Given the description of an element on the screen output the (x, y) to click on. 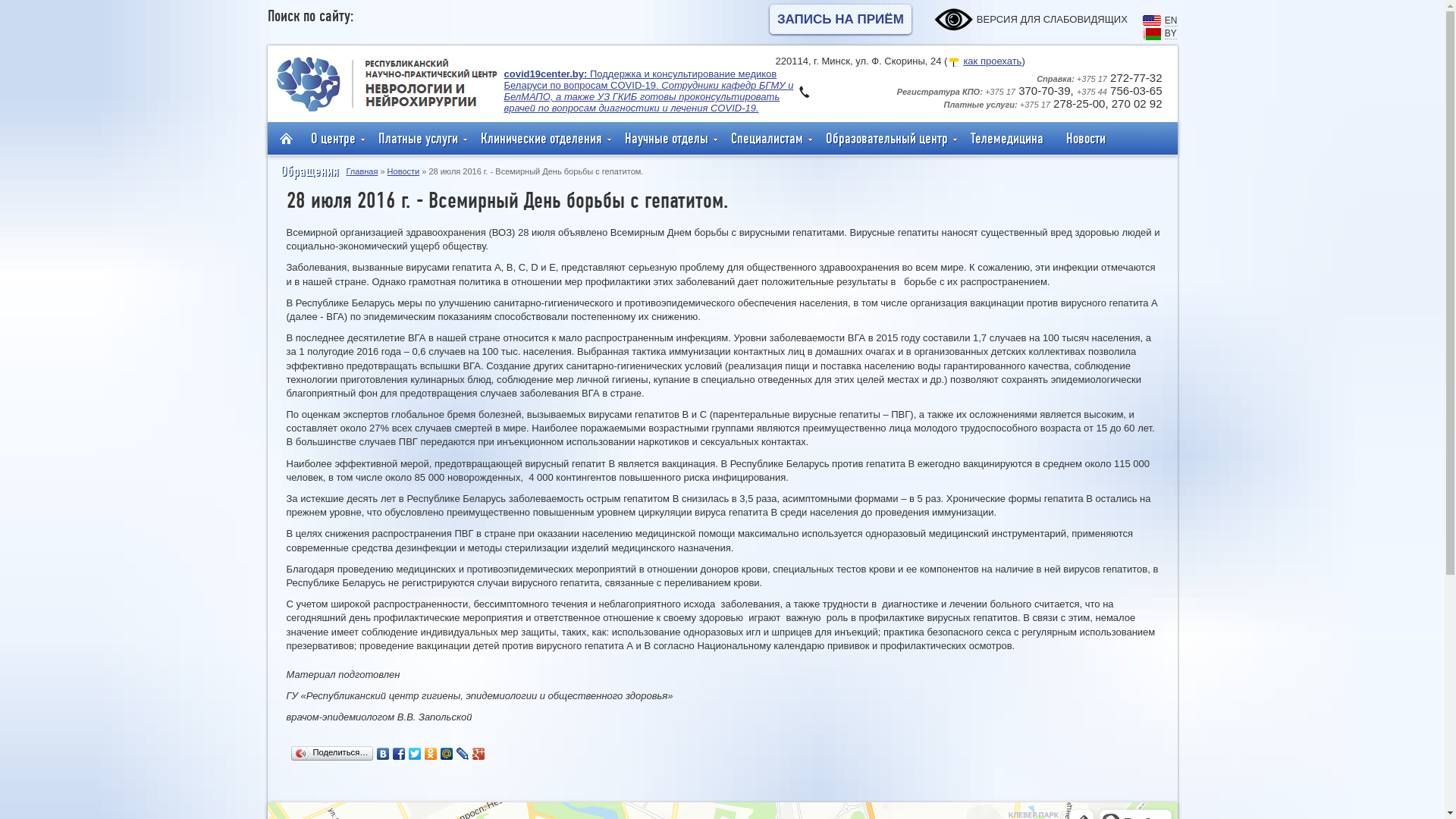
BY Element type: text (1170, 32)
Google Plus Element type: hover (478, 753)
LiveJournal Element type: hover (462, 753)
EN Element type: text (1170, 19)
Twitter Element type: hover (415, 753)
Facebook Element type: hover (399, 753)
Switch to English Element type: hover (1151, 22)
